Given the description of an element on the screen output the (x, y) to click on. 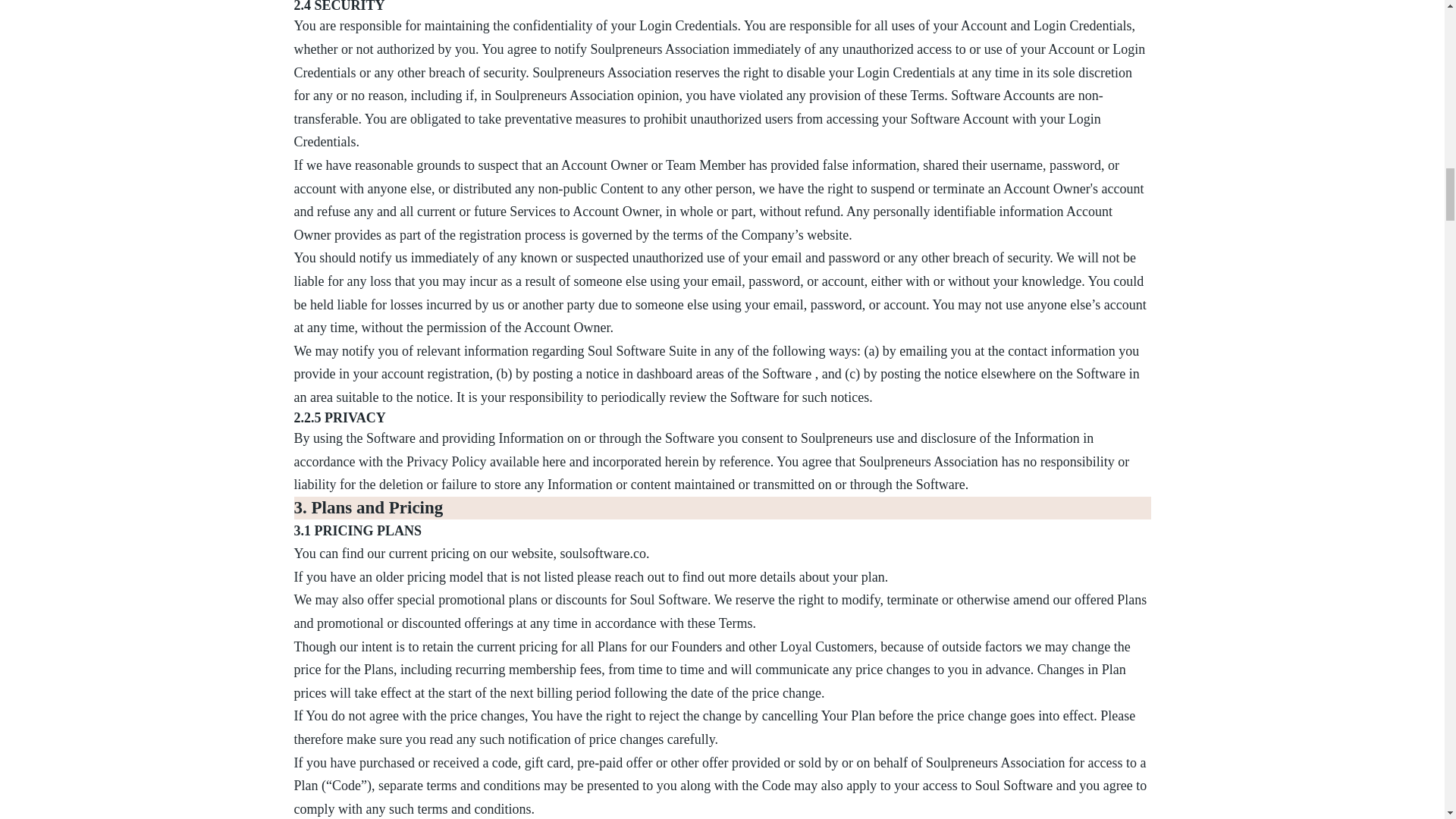
soulsoftware.co (601, 553)
